Given the description of an element on the screen output the (x, y) to click on. 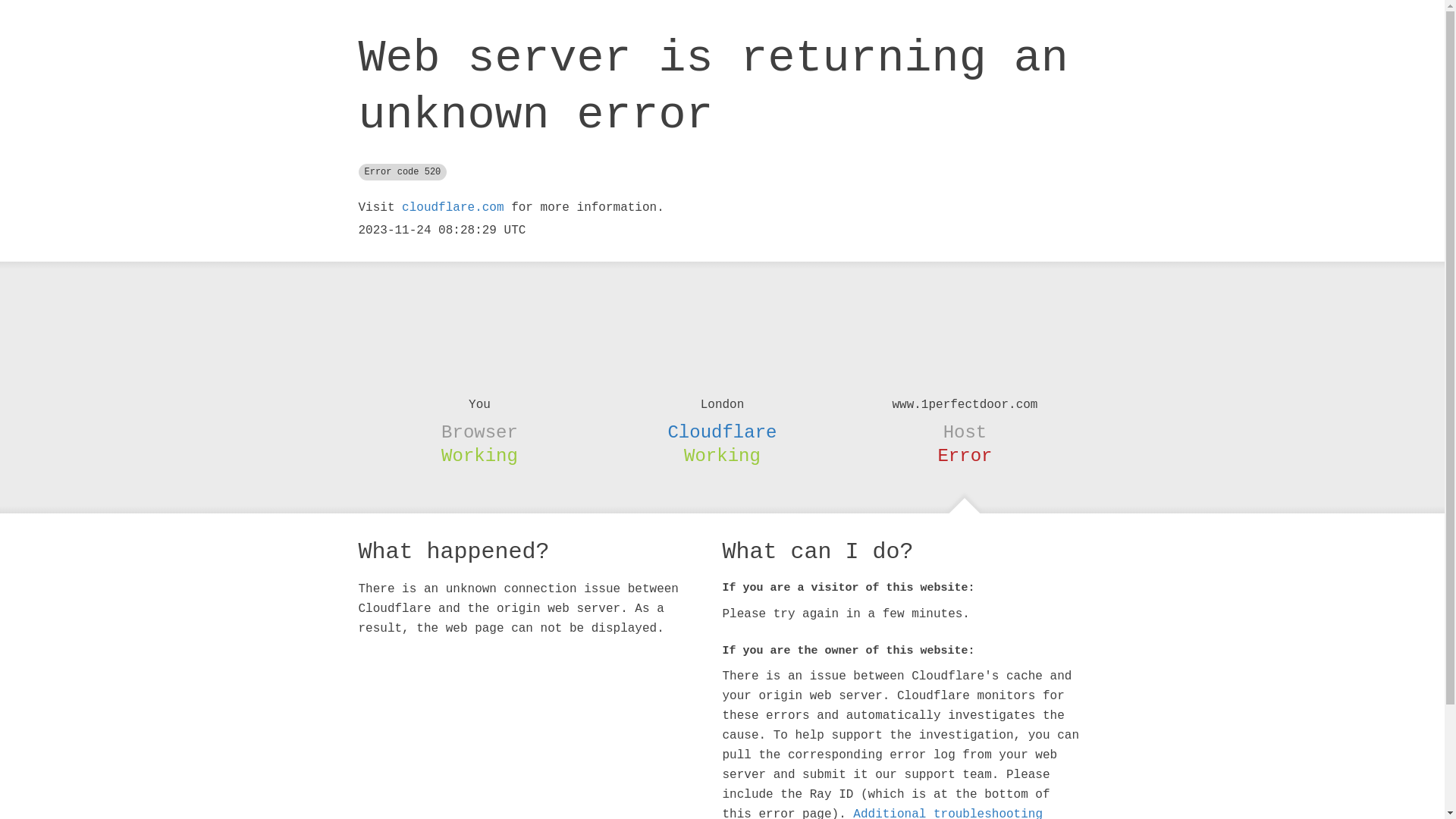
cloudflare.com Element type: text (452, 207)
Cloudflare Element type: text (721, 432)
